Given the description of an element on the screen output the (x, y) to click on. 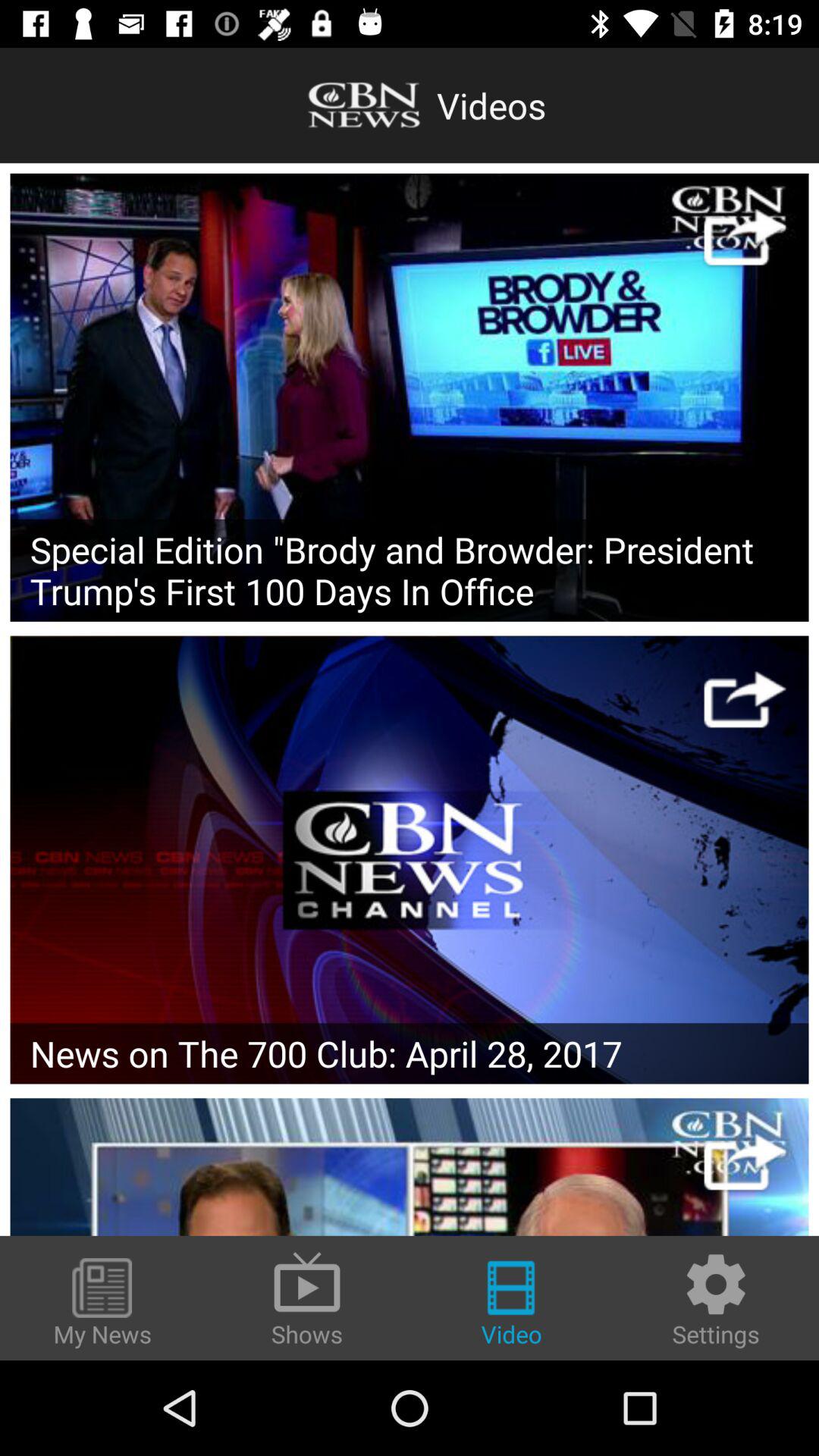
select the poster then play video (409, 397)
